Given the description of an element on the screen output the (x, y) to click on. 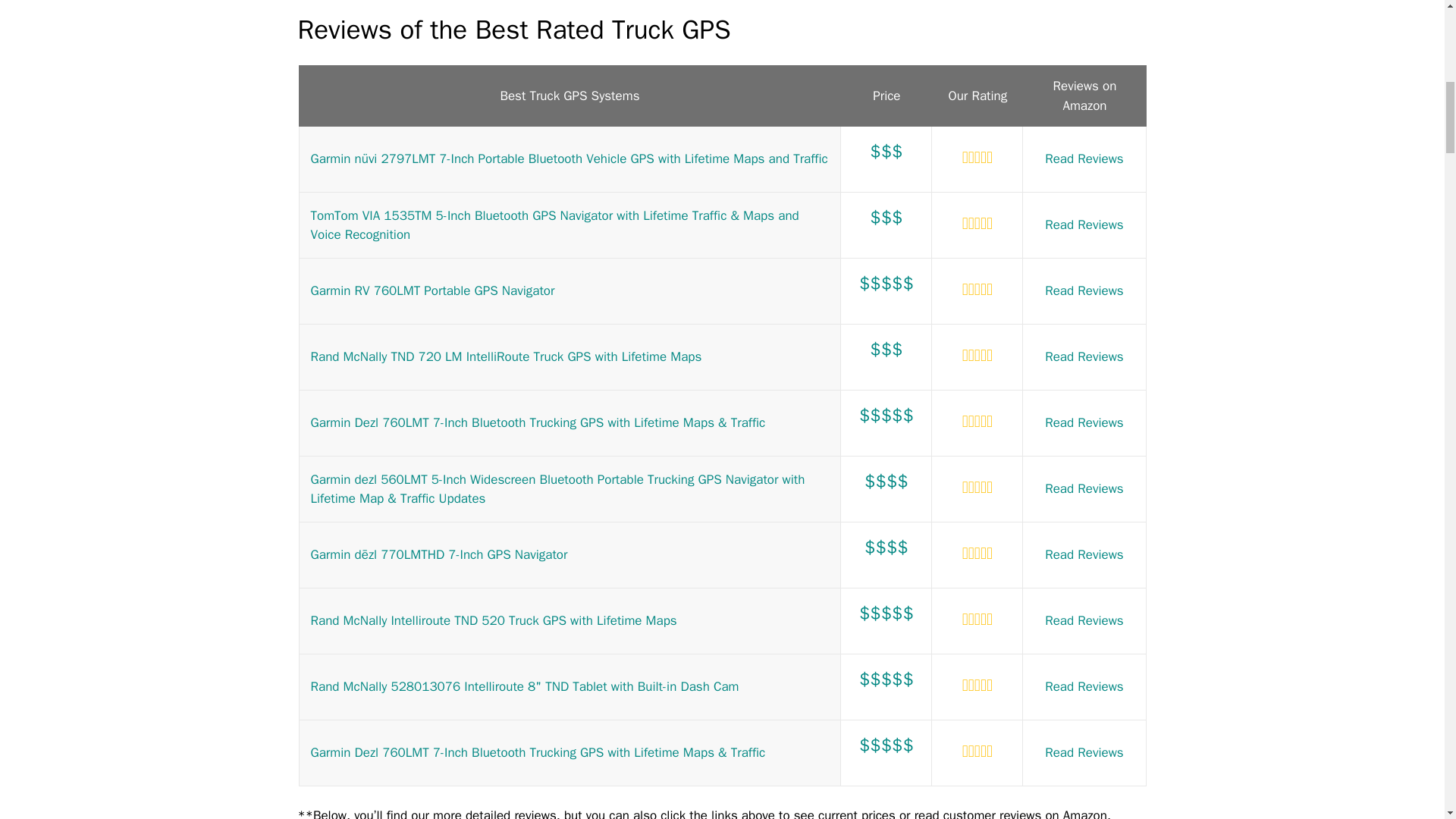
Read Reviews (1084, 290)
Garmin RV 760LMT Portable GPS Navigator (432, 290)
Read Reviews (1084, 488)
Read Reviews (1084, 554)
Read Reviews (1084, 158)
Read Reviews (1084, 356)
Read Reviews (1084, 752)
Read Reviews (1084, 686)
